Given the description of an element on the screen output the (x, y) to click on. 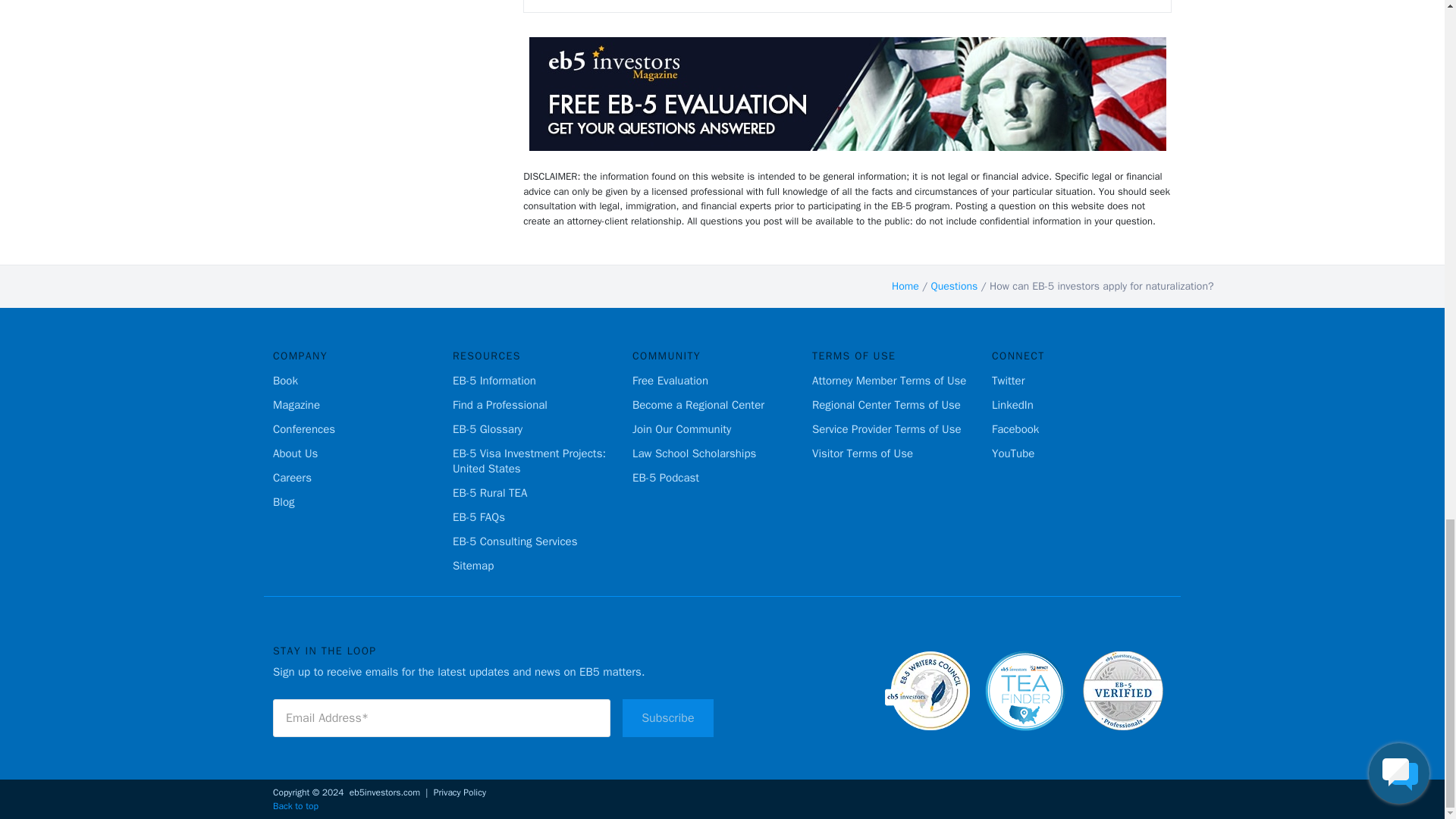
Subscribe (668, 718)
